Given the description of an element on the screen output the (x, y) to click on. 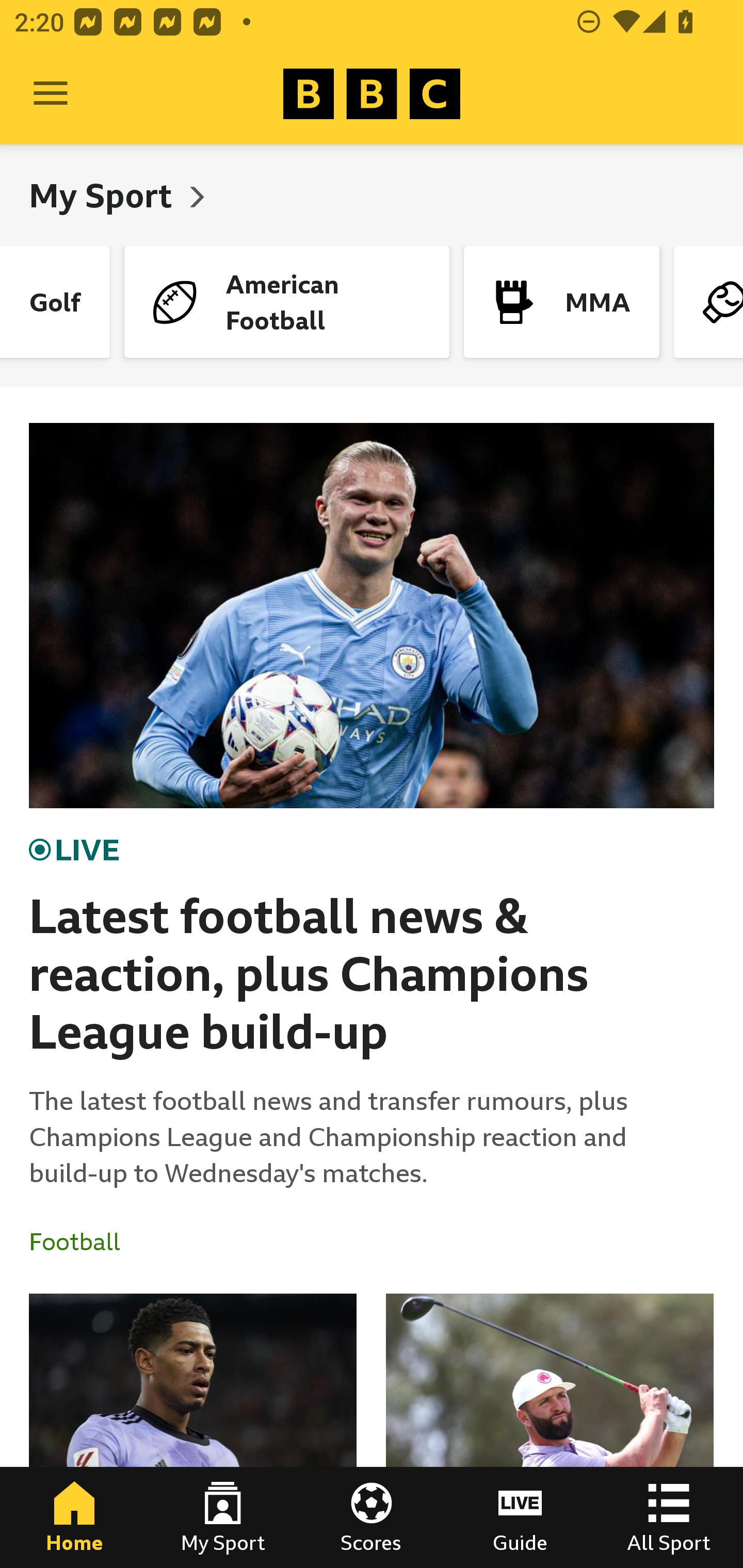
Open Menu (50, 93)
My Sport (104, 195)
Football In the section Football (81, 1241)
Real midfielder Bellingham banned for two games (192, 1430)
My Sport (222, 1517)
Scores (371, 1517)
Guide (519, 1517)
All Sport (668, 1517)
